Given the description of an element on the screen output the (x, y) to click on. 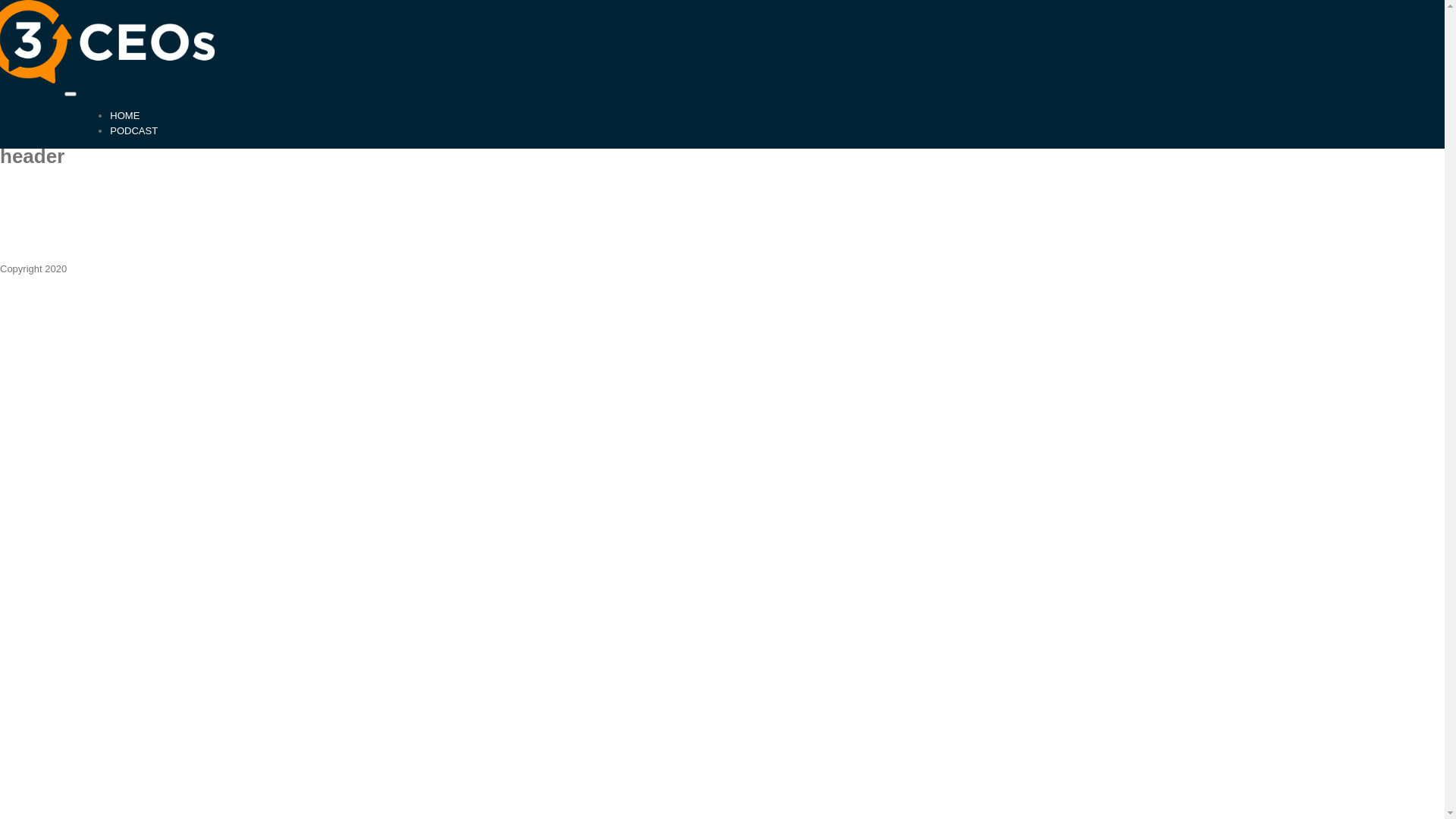
HOME Element type: text (124, 114)
Toggle Navigation Element type: text (70, 93)
PODCAST Element type: text (133, 129)
